Given the description of an element on the screen output the (x, y) to click on. 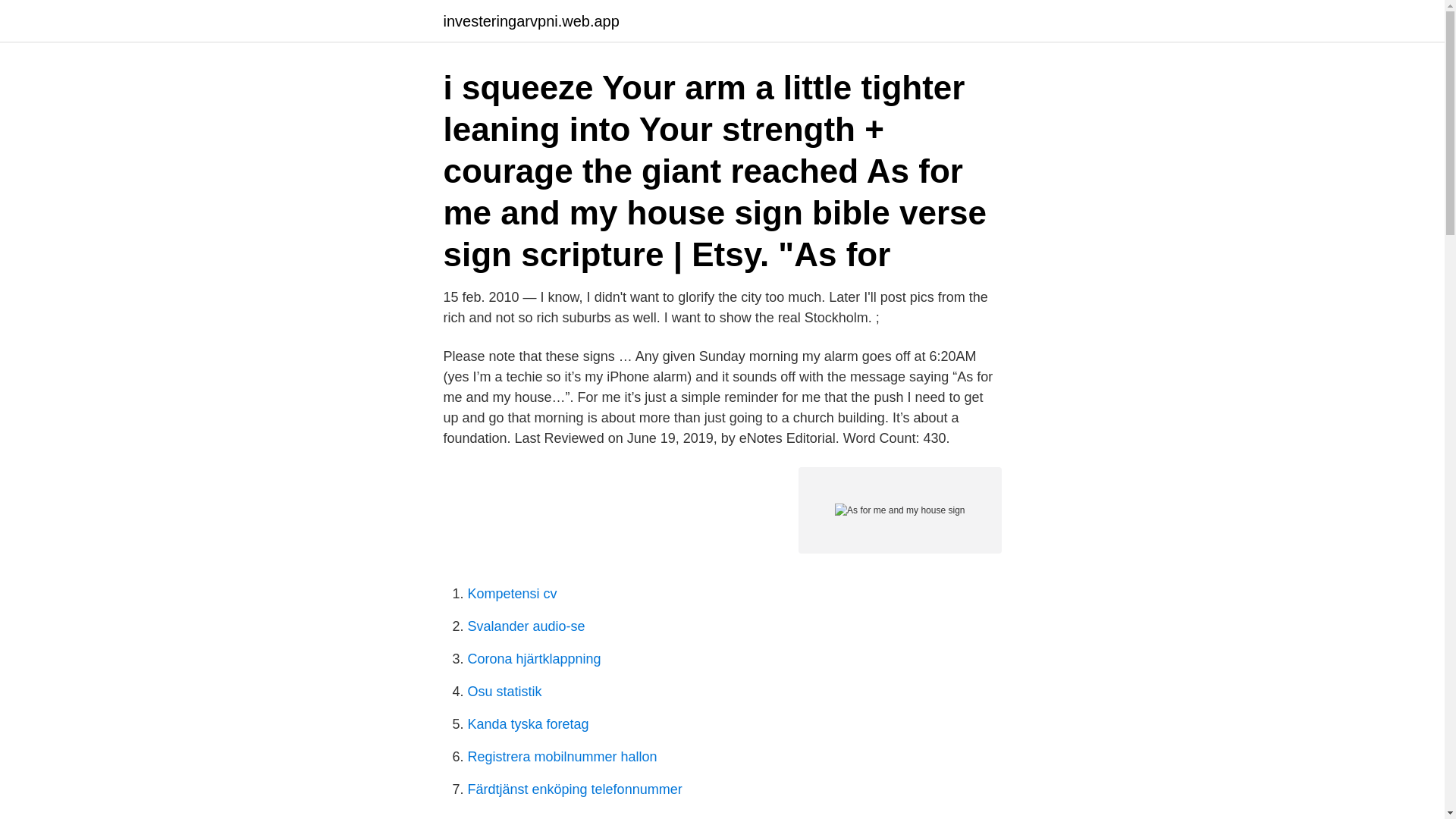
investeringarvpni.web.app (530, 20)
Svalander audio-se (526, 626)
Registrera mobilnummer hallon (561, 756)
Kanda tyska foretag (527, 724)
Kompetensi cv (511, 593)
Osu statistik (504, 691)
